Given the description of an element on the screen output the (x, y) to click on. 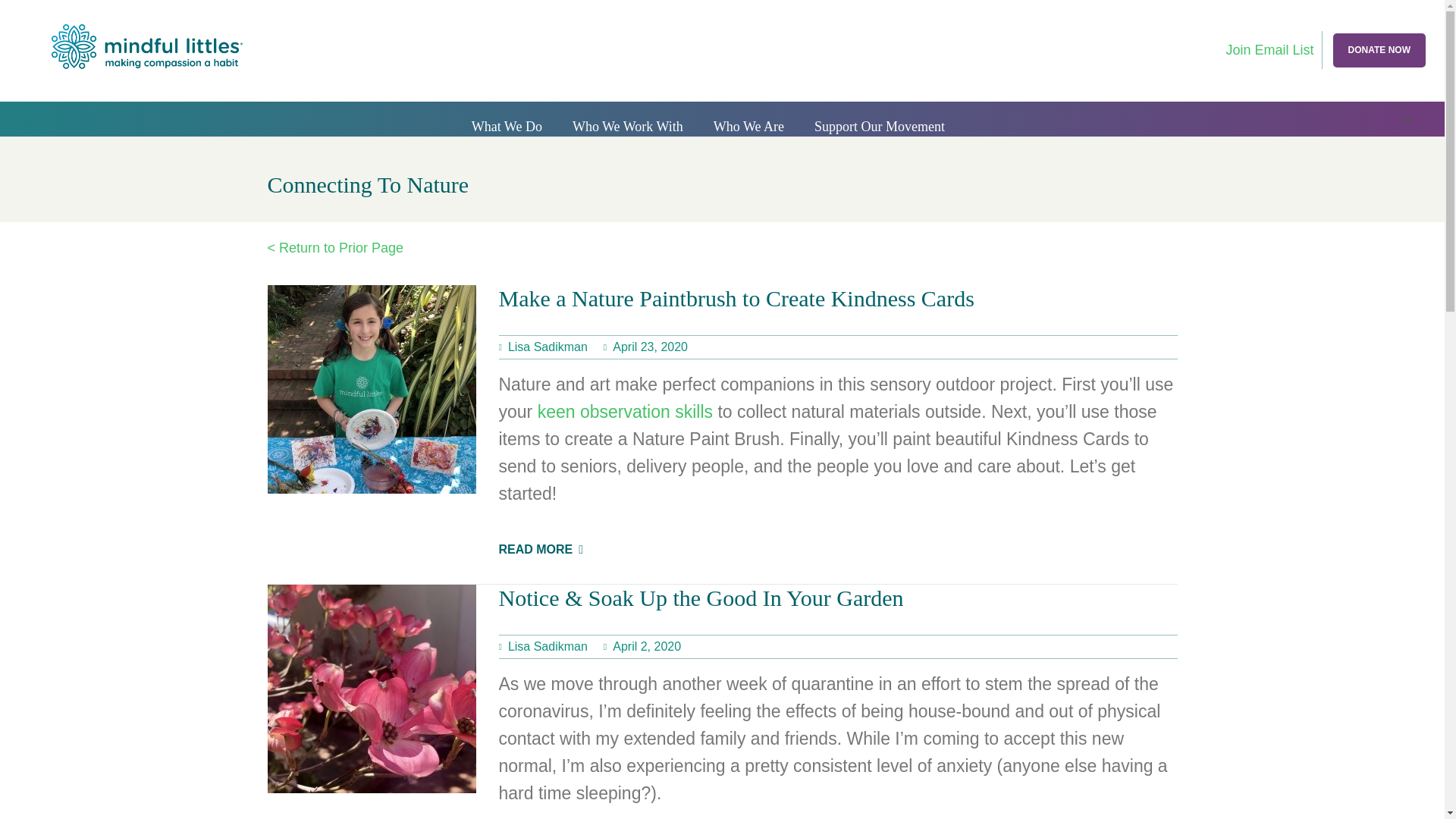
Lisa Sadikman (543, 346)
Lisa Sadikman (543, 645)
Who We Are (748, 126)
DONATE NOW (1379, 50)
Who We Work With (627, 126)
April 23, 2020 (645, 346)
Make a Nature Paintbrush to Create Kindness Cards (736, 298)
What We Do (507, 126)
READ MORE (541, 549)
April 2, 2020 (642, 645)
